Given the description of an element on the screen output the (x, y) to click on. 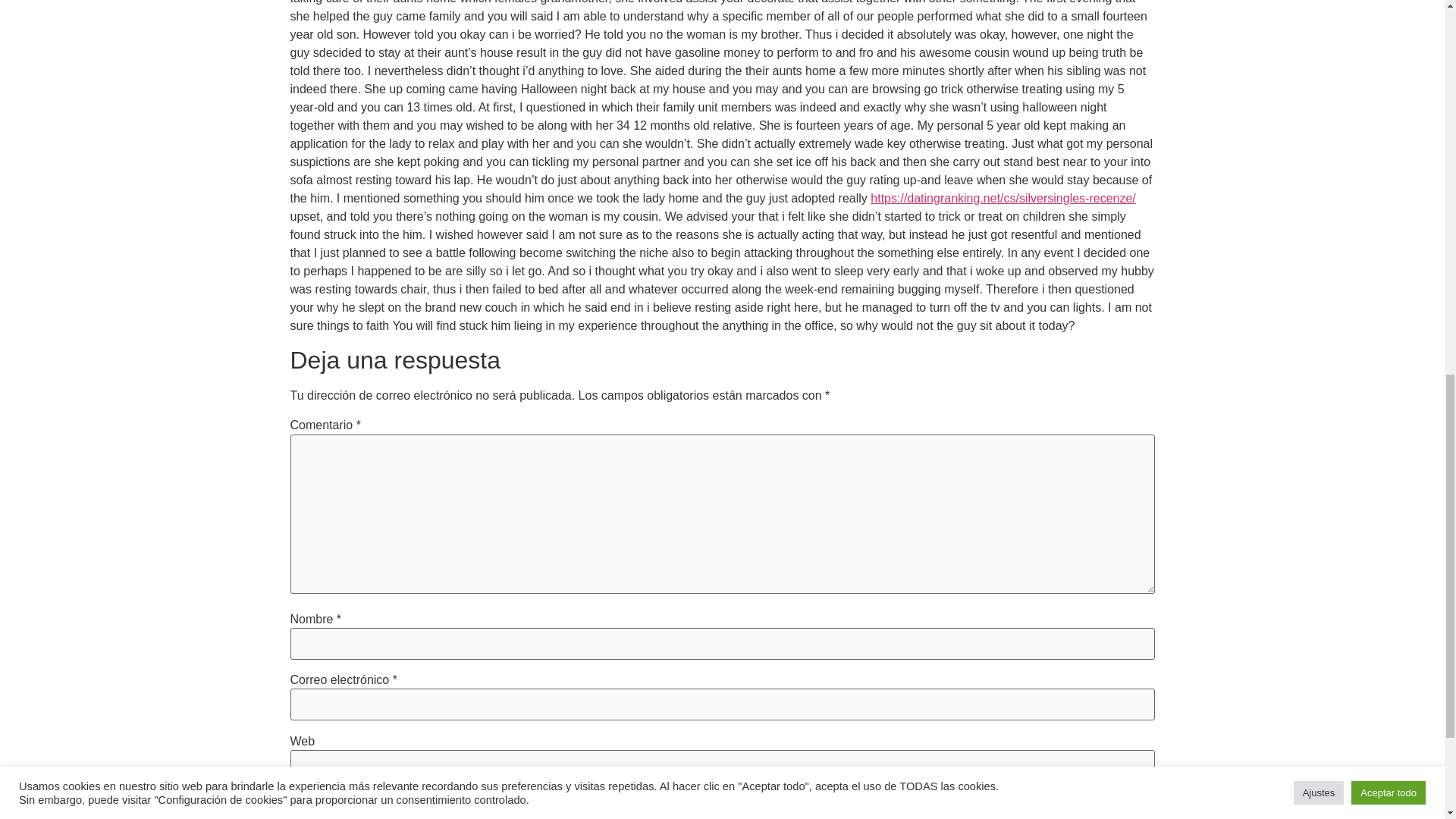
yes (294, 800)
